Given the description of an element on the screen output the (x, y) to click on. 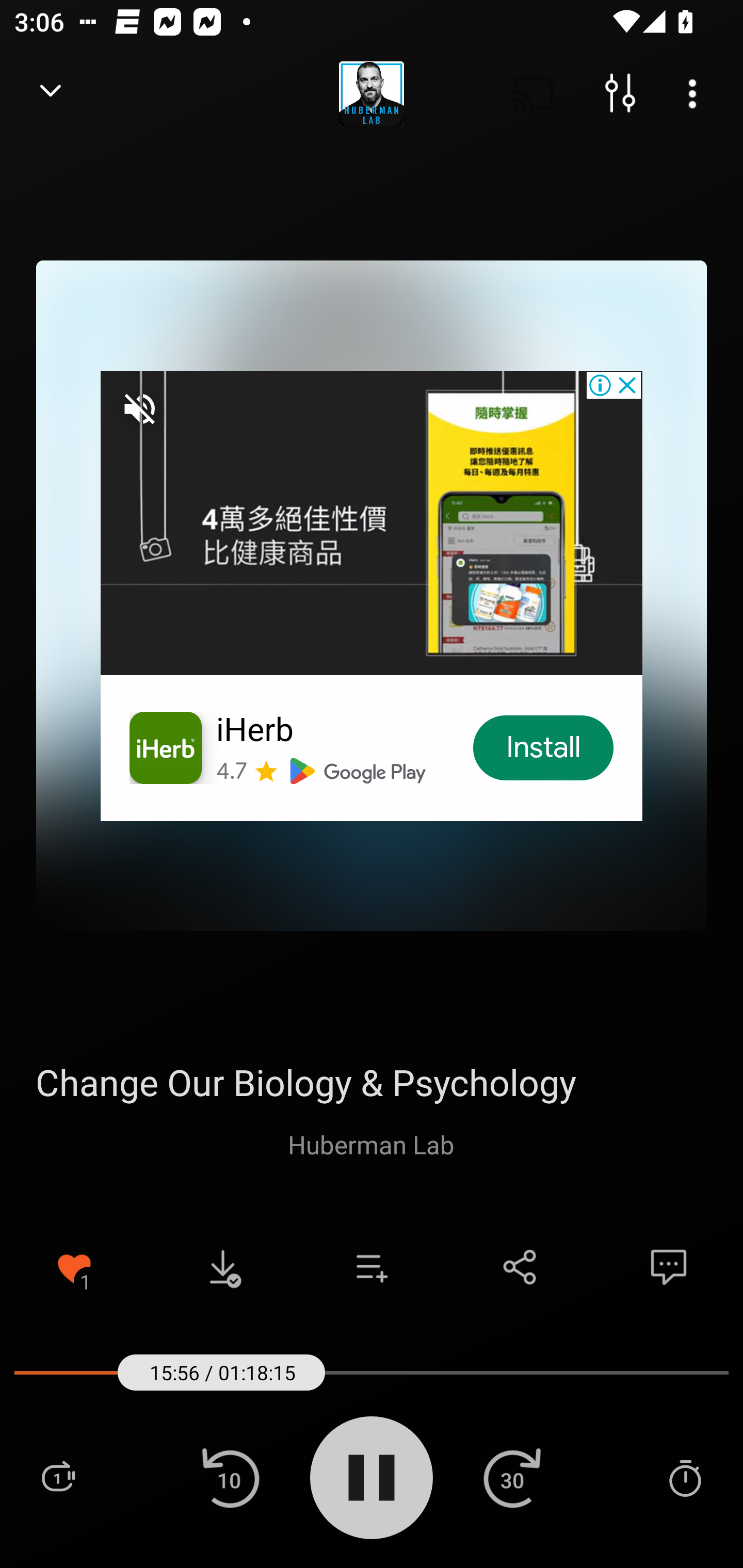
Cast. Disconnected (533, 93)
 Back (50, 94)
iHerb 4.7 Install Install (371, 595)
Install (543, 747)
Huberman Lab (370, 1144)
Comments (668, 1266)
Remove from Favorites (73, 1266)
Add to playlist (371, 1266)
Share (519, 1266)
 Playlist (57, 1477)
Sleep Timer  (684, 1477)
